Given the description of an element on the screen output the (x, y) to click on. 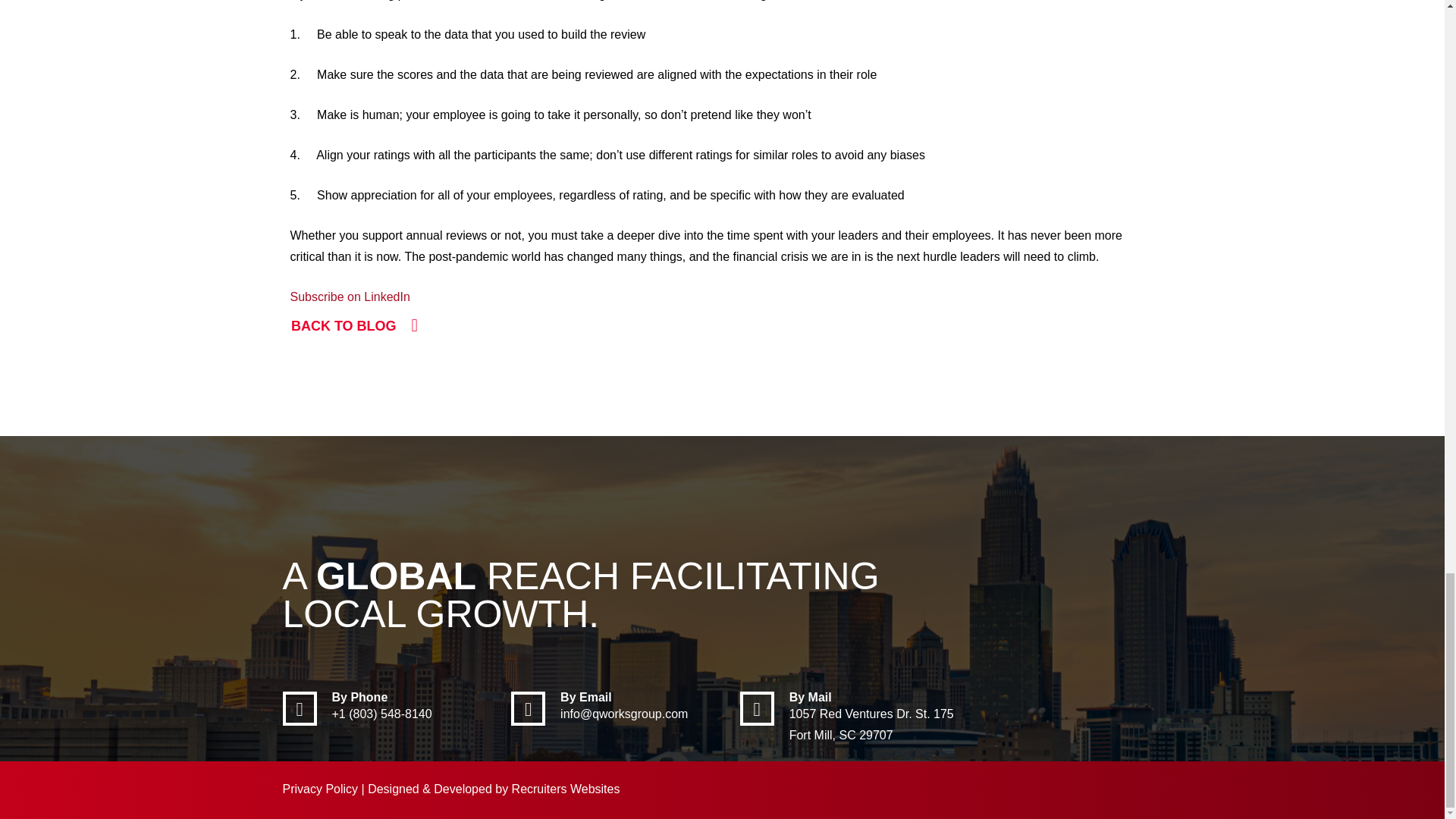
Privacy Policy (320, 788)
Recruiters Websites (566, 788)
Subscribe on LinkedIn (349, 296)
BACK TO BLOG (354, 325)
